Given the description of an element on the screen output the (x, y) to click on. 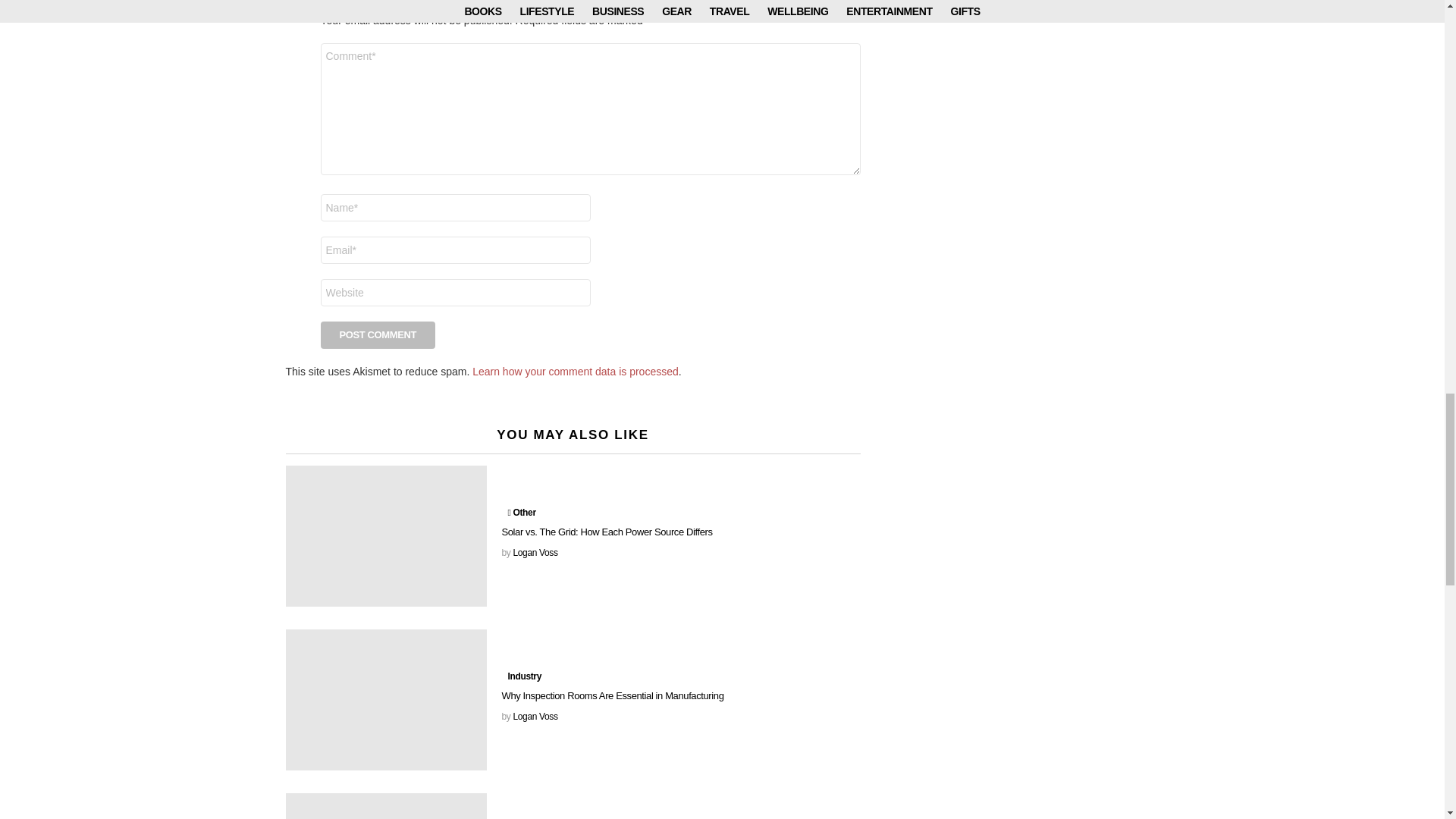
Why Inspection Rooms Are Essential in Manufacturing (385, 699)
Common Terms Every Off-Roader Should Know (385, 806)
Solar vs. The Grid: How Each Power Source Differs (385, 536)
Posts by Logan Voss (534, 552)
Post Comment (377, 334)
Posts by Logan Voss (534, 716)
